Given the description of an element on the screen output the (x, y) to click on. 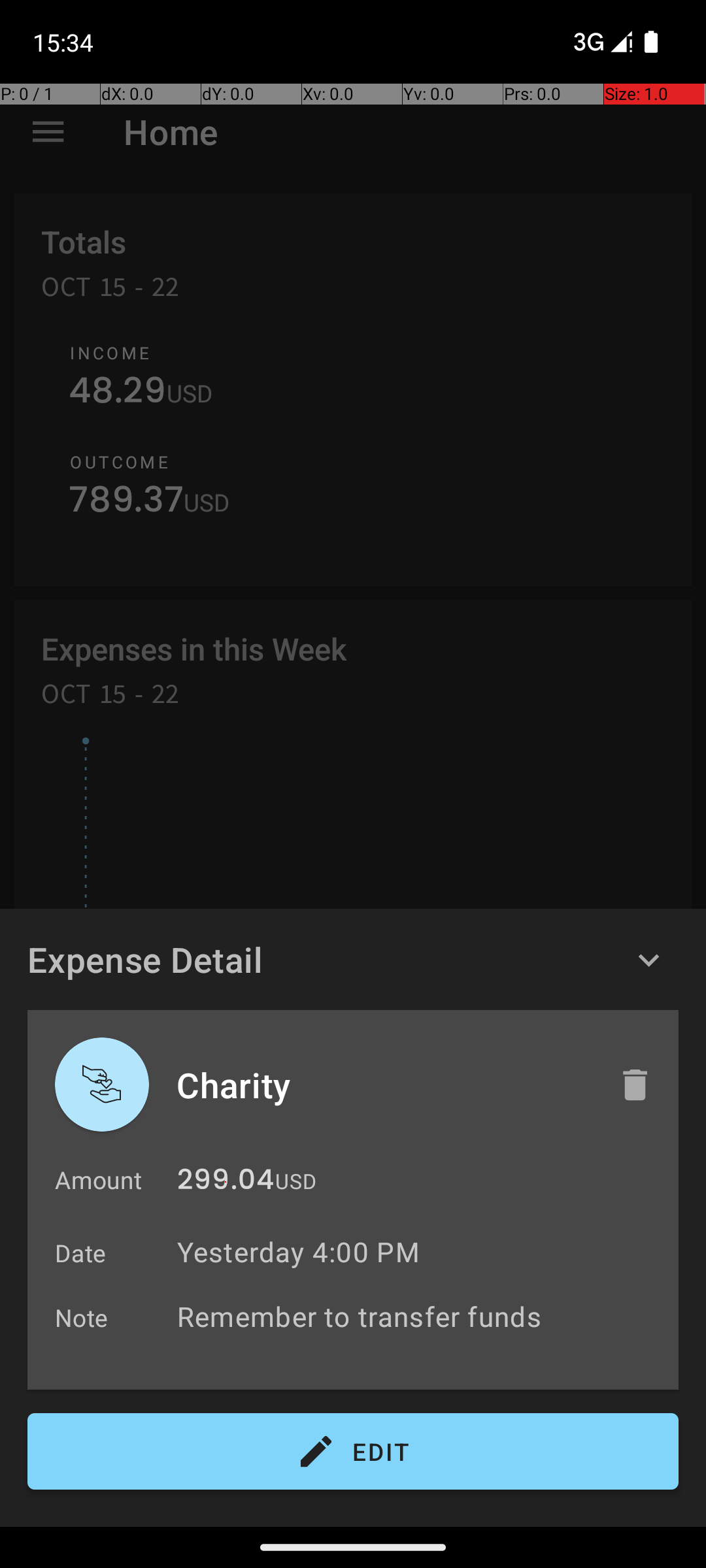
Charity Element type: android.widget.TextView (383, 1084)
299.04 Element type: android.widget.TextView (225, 1182)
Yesterday 4:00 PM Element type: android.widget.TextView (298, 1251)
Remember to transfer funds Element type: android.widget.TextView (420, 1315)
